Given the description of an element on the screen output the (x, y) to click on. 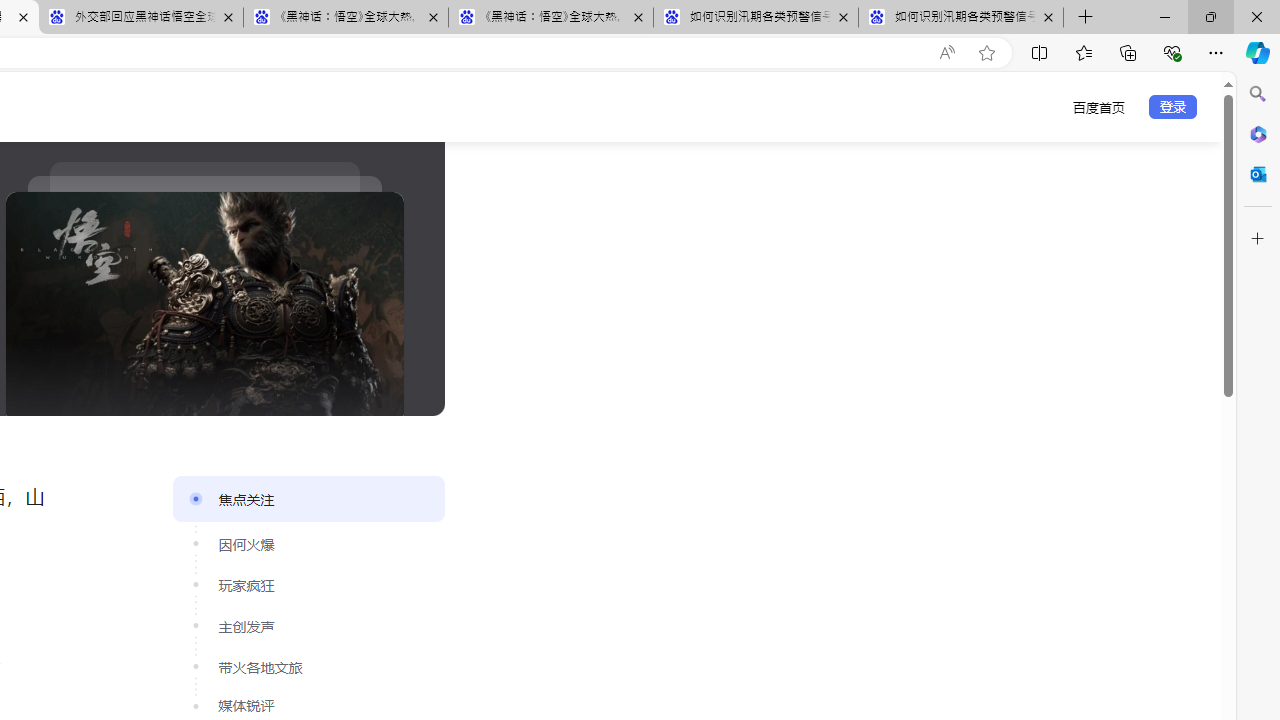
Class: w-icon pc-image-default-icon (203, 304)
